Given the description of an element on the screen output the (x, y) to click on. 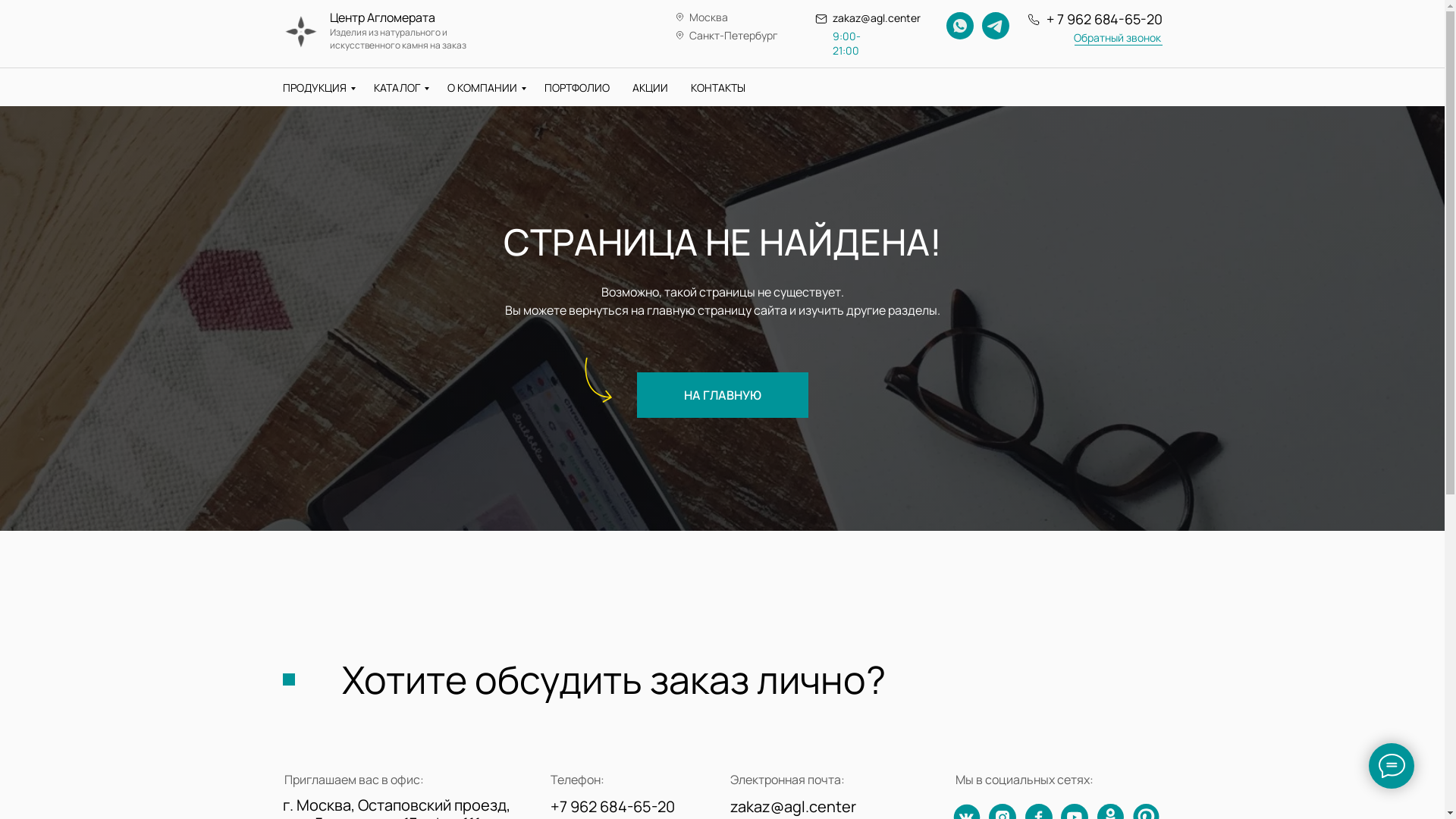
+ 7 962 684-65-20 Element type: text (1104, 18)
zakaz@agl.center Element type: text (792, 806)
zakaz@agl.center Element type: text (876, 17)
+7 962 684-65-20 Element type: text (612, 806)
